Given the description of an element on the screen output the (x, y) to click on. 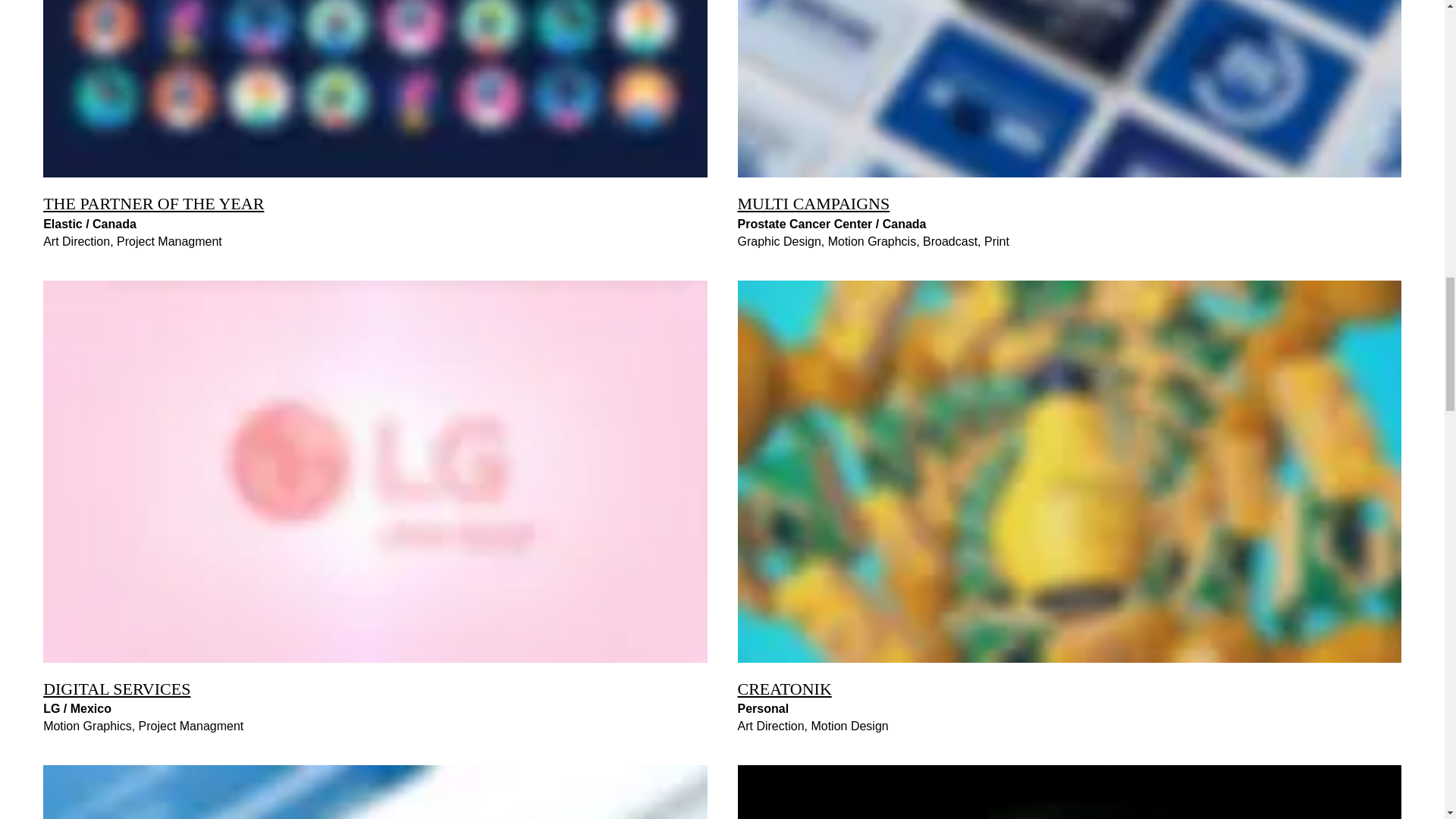
DIGITAL SERVICES (116, 688)
THE PARTNER OF THE YEAR (153, 203)
MULTI CAMPAIGNS (812, 203)
CREATONIK (783, 688)
